Given the description of an element on the screen output the (x, y) to click on. 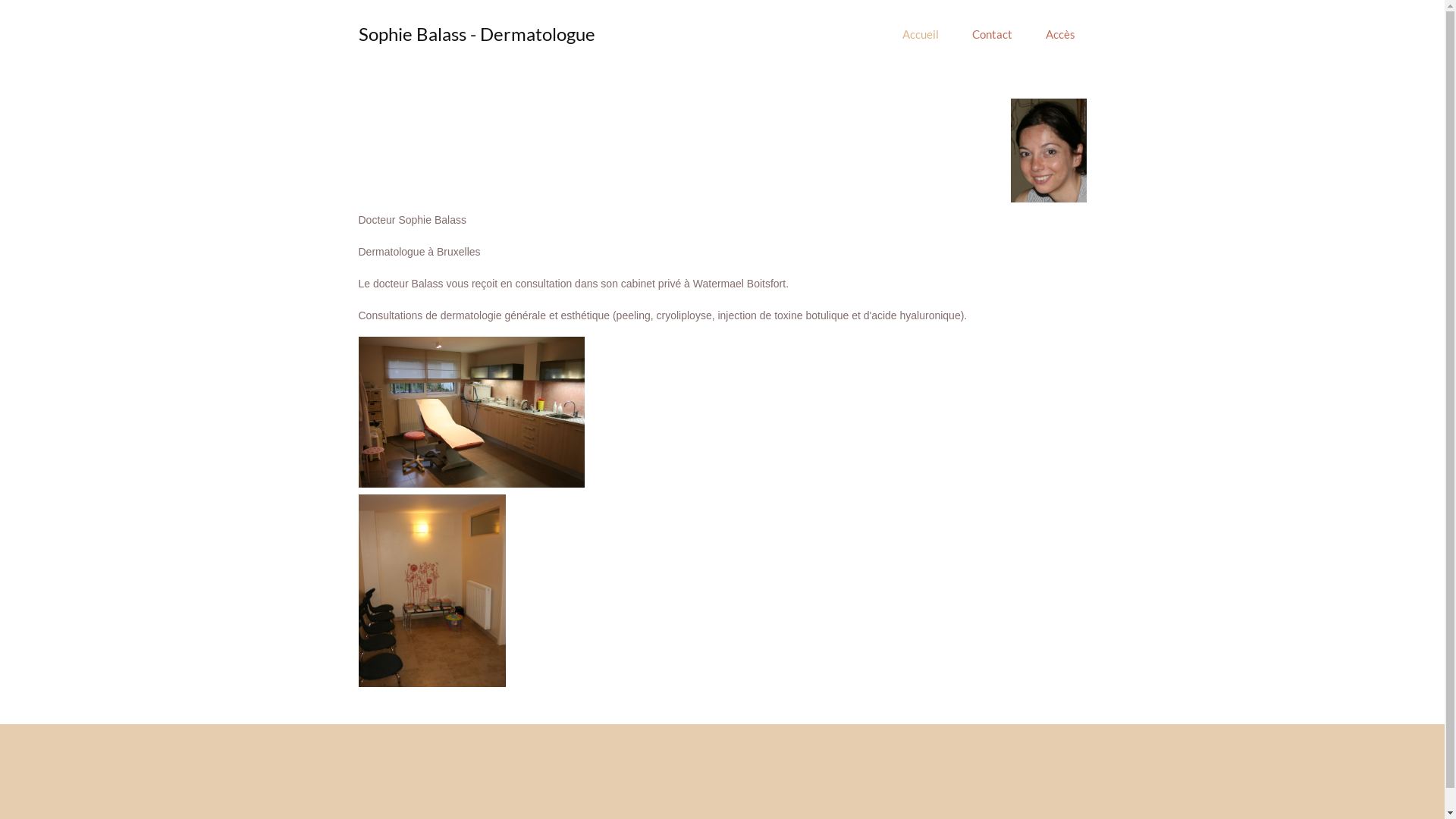
Accueil Element type: text (920, 33)
Sophie Balass - Dermatologue Element type: text (475, 33)
Contact Element type: text (992, 33)
